Given the description of an element on the screen output the (x, y) to click on. 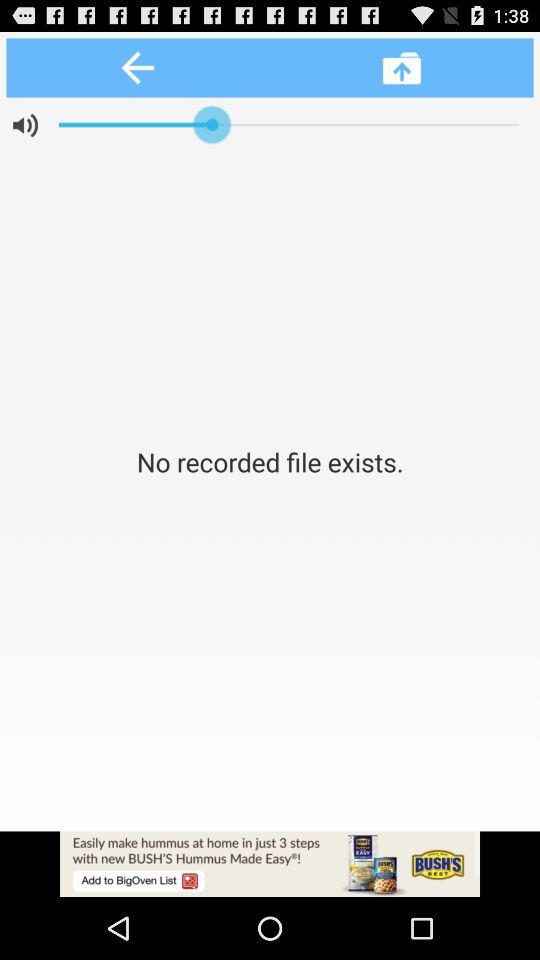
advertisement (270, 864)
